Given the description of an element on the screen output the (x, y) to click on. 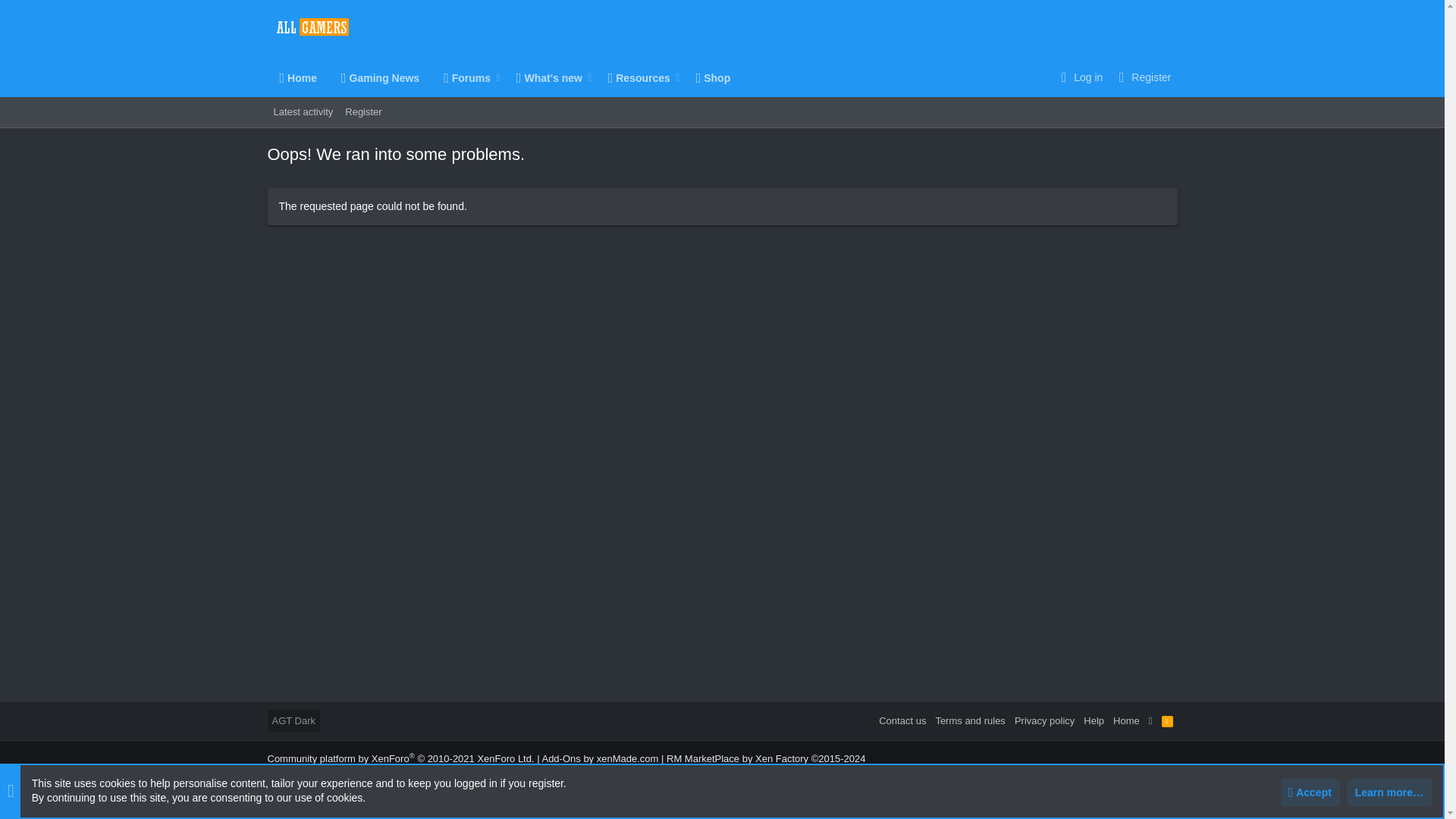
Gaming News (379, 77)
Contact us (902, 721)
Shop (713, 77)
AGT Dark (293, 721)
Forums (461, 77)
Home (297, 77)
Register (504, 77)
RSS (363, 112)
RSS (1167, 721)
